Given the description of an element on the screen output the (x, y) to click on. 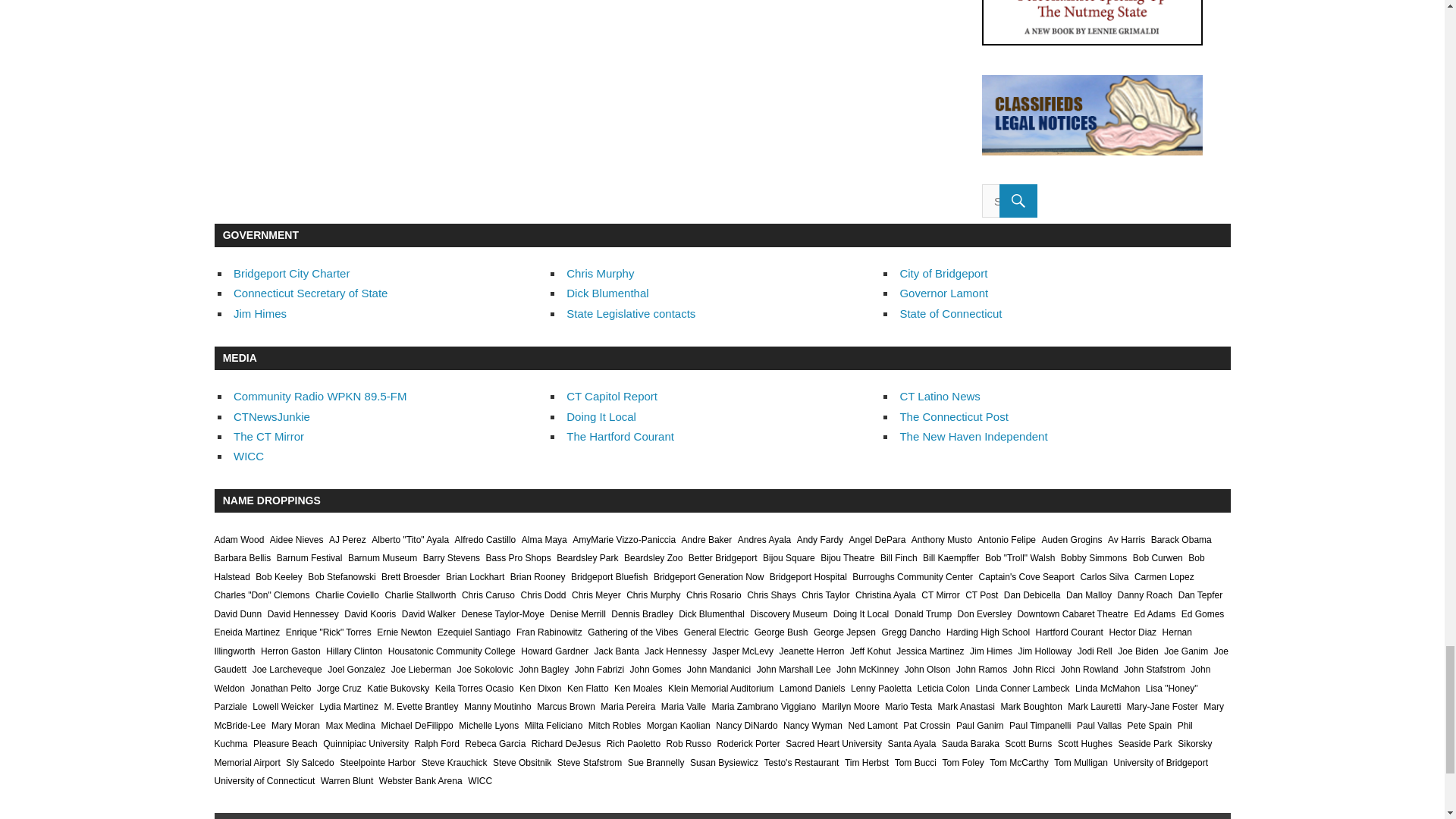
Contact your State Legislators (630, 313)
State of Connecticut (950, 313)
Secretary of the State (309, 292)
The official Bridgeport website (943, 273)
CT Capitol Report (612, 395)
Search for: (1008, 200)
